Given the description of an element on the screen output the (x, y) to click on. 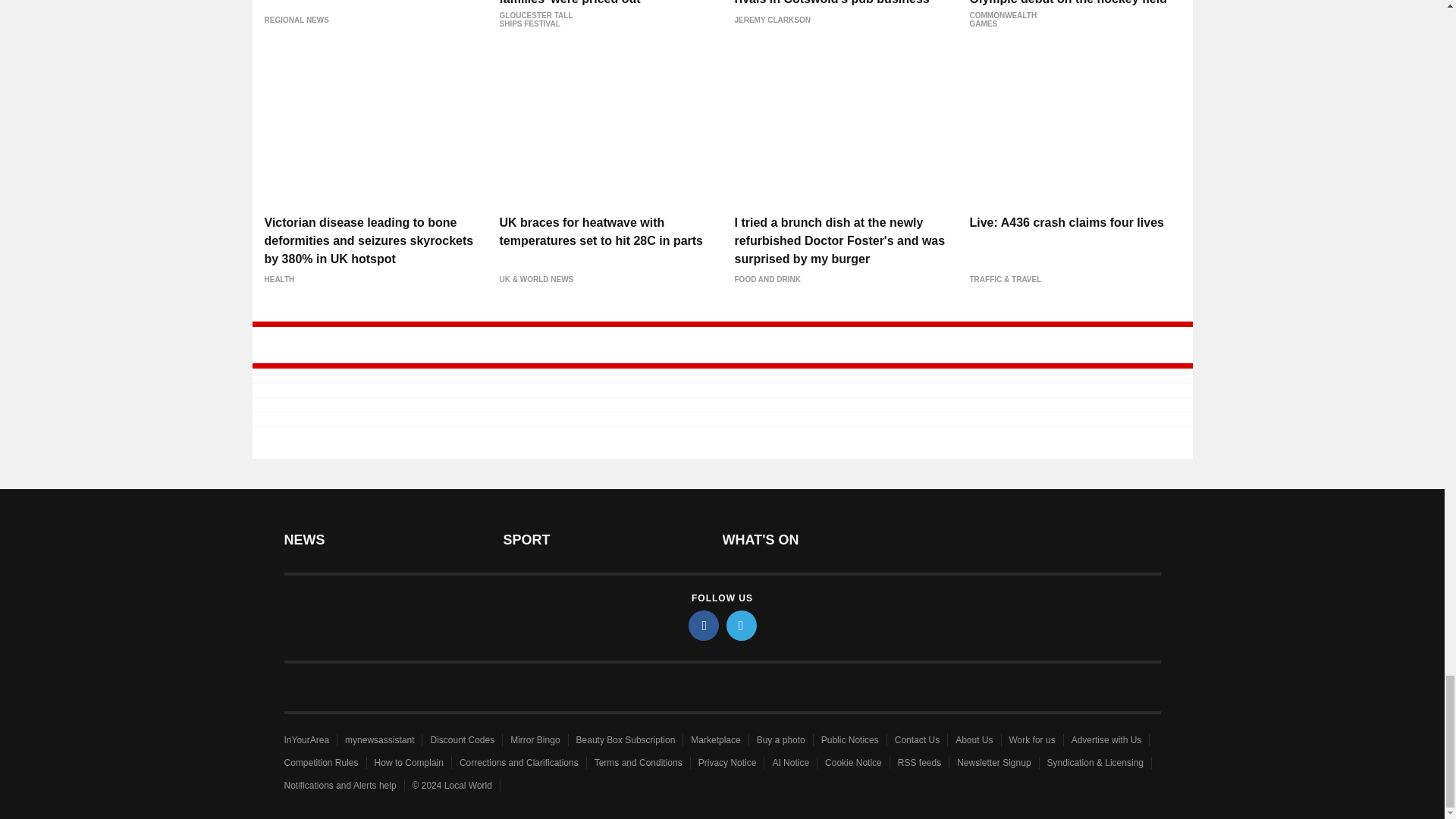
twitter (741, 625)
facebook (703, 625)
